Given the description of an element on the screen output the (x, y) to click on. 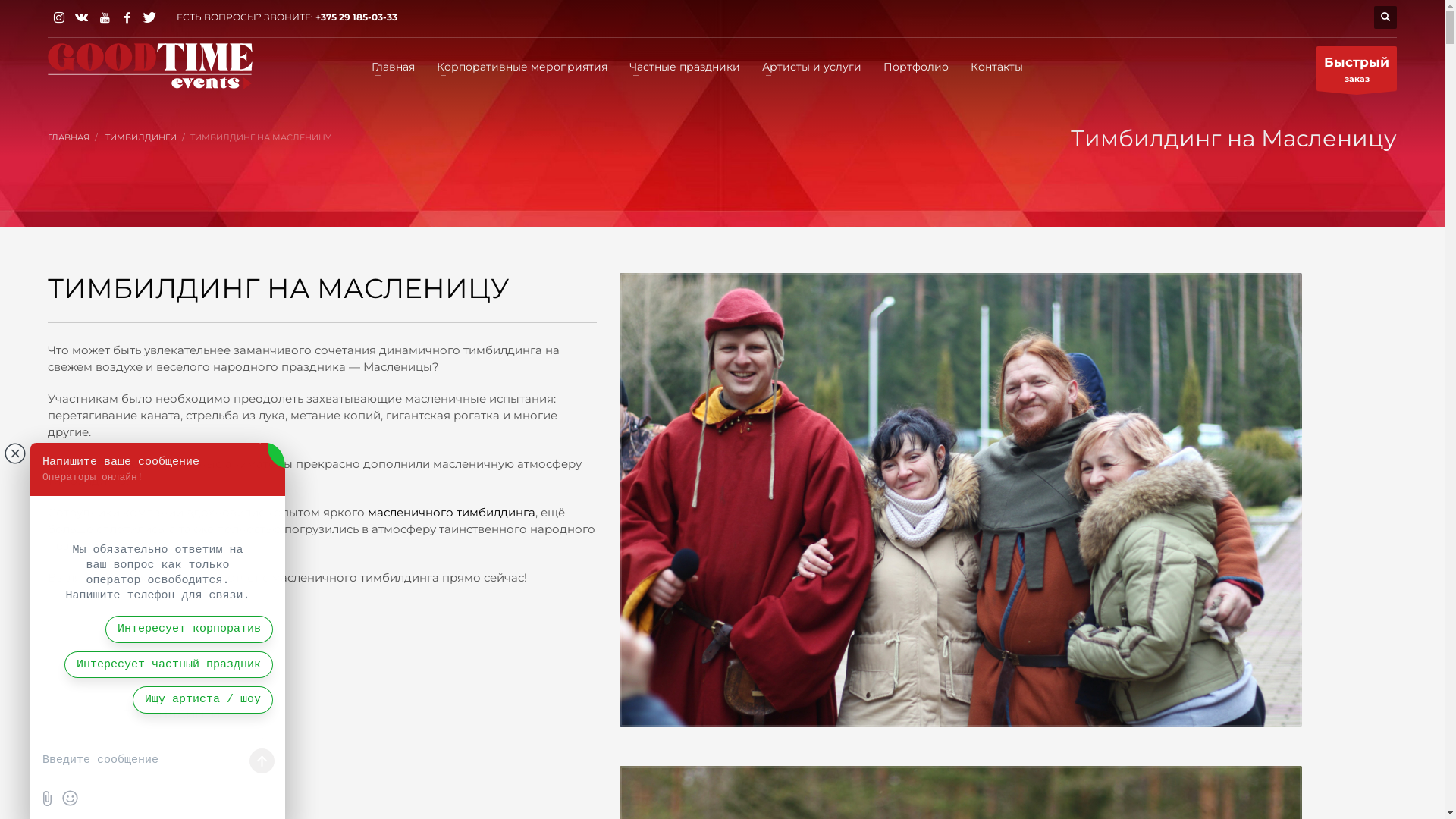
YouTube Element type: hover (104, 17)
timbilding-maslenica-35 Element type: hover (960, 500)
Facebook Element type: hover (127, 17)
Twitter Element type: hover (149, 17)
VK Element type: hover (81, 17)
Instagram Element type: hover (58, 17)
+375 29 185-03-33 Element type: text (356, 16)
